Given the description of an element on the screen output the (x, y) to click on. 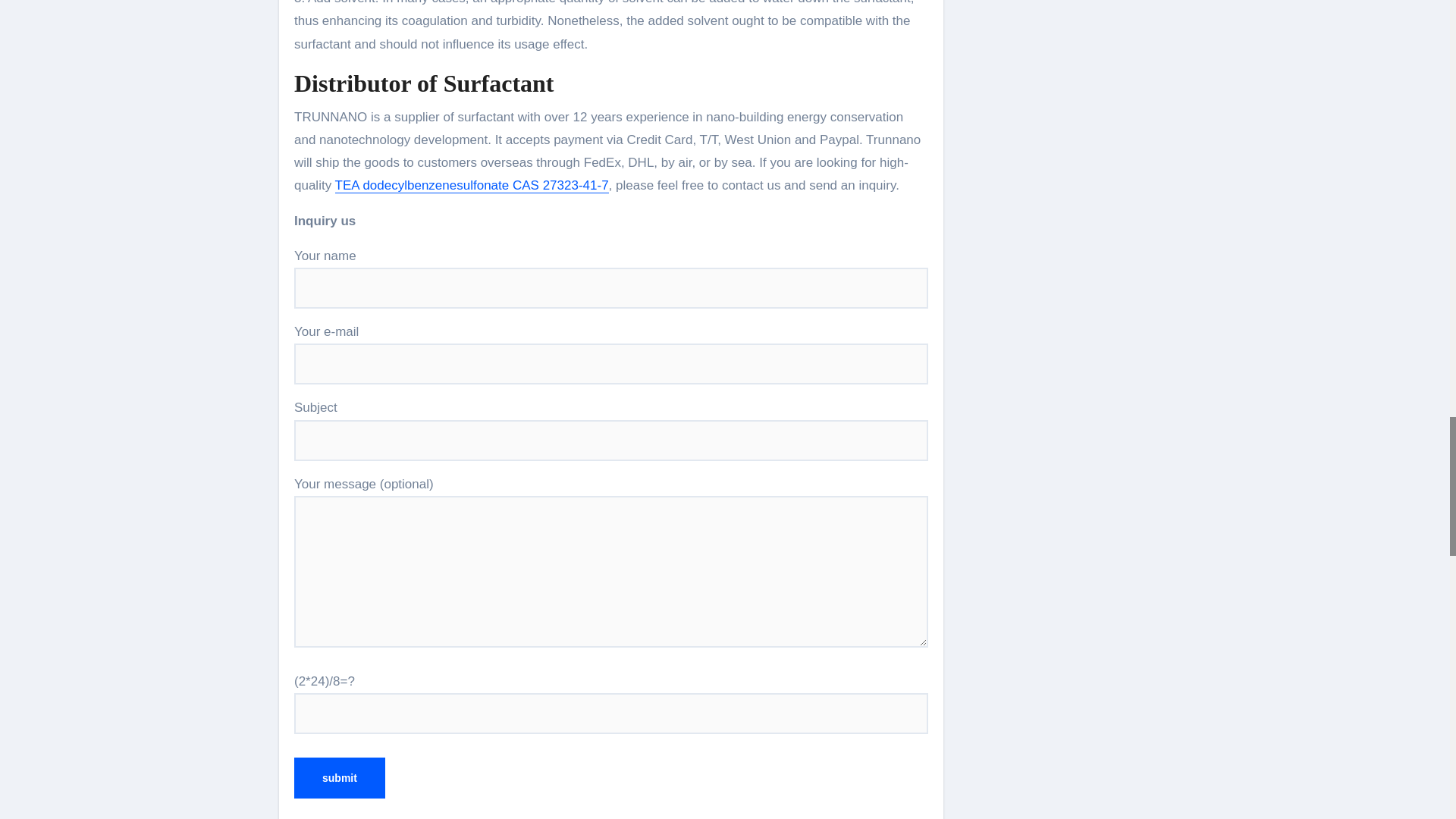
submit (339, 777)
